Given the description of an element on the screen output the (x, y) to click on. 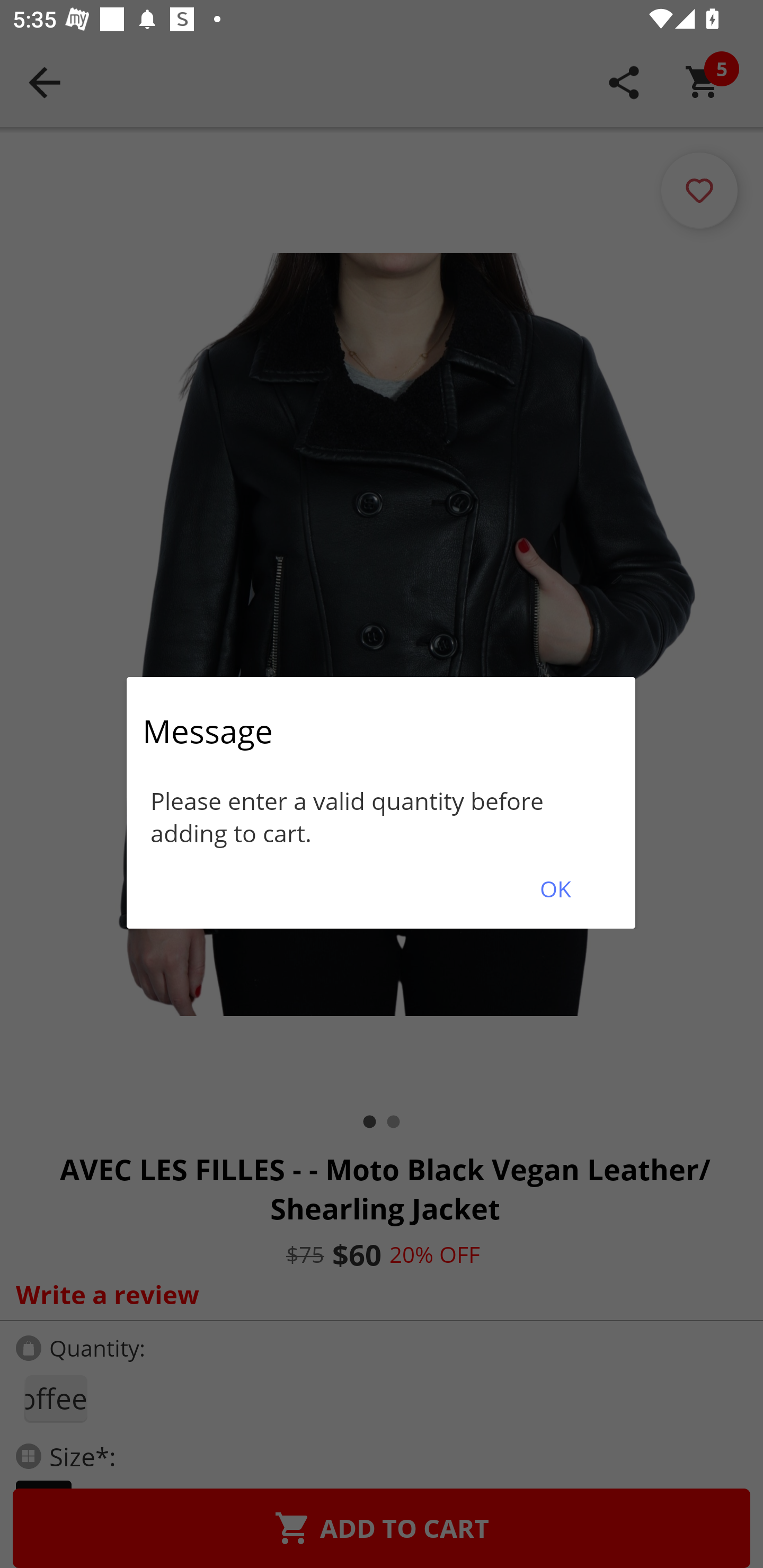
OK (555, 888)
